Given the description of an element on the screen output the (x, y) to click on. 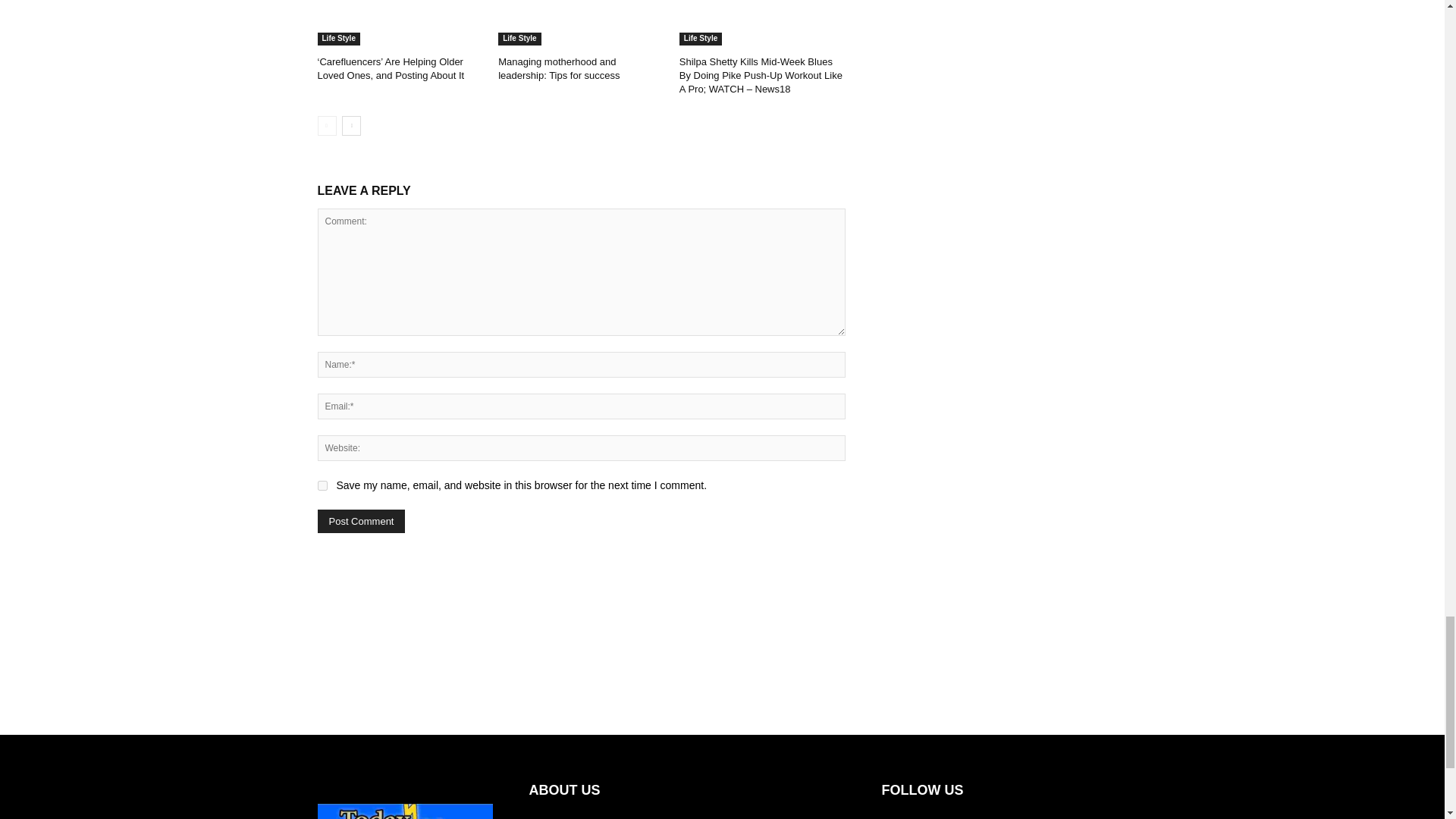
Post Comment (360, 521)
yes (321, 485)
